Given the description of an element on the screen output the (x, y) to click on. 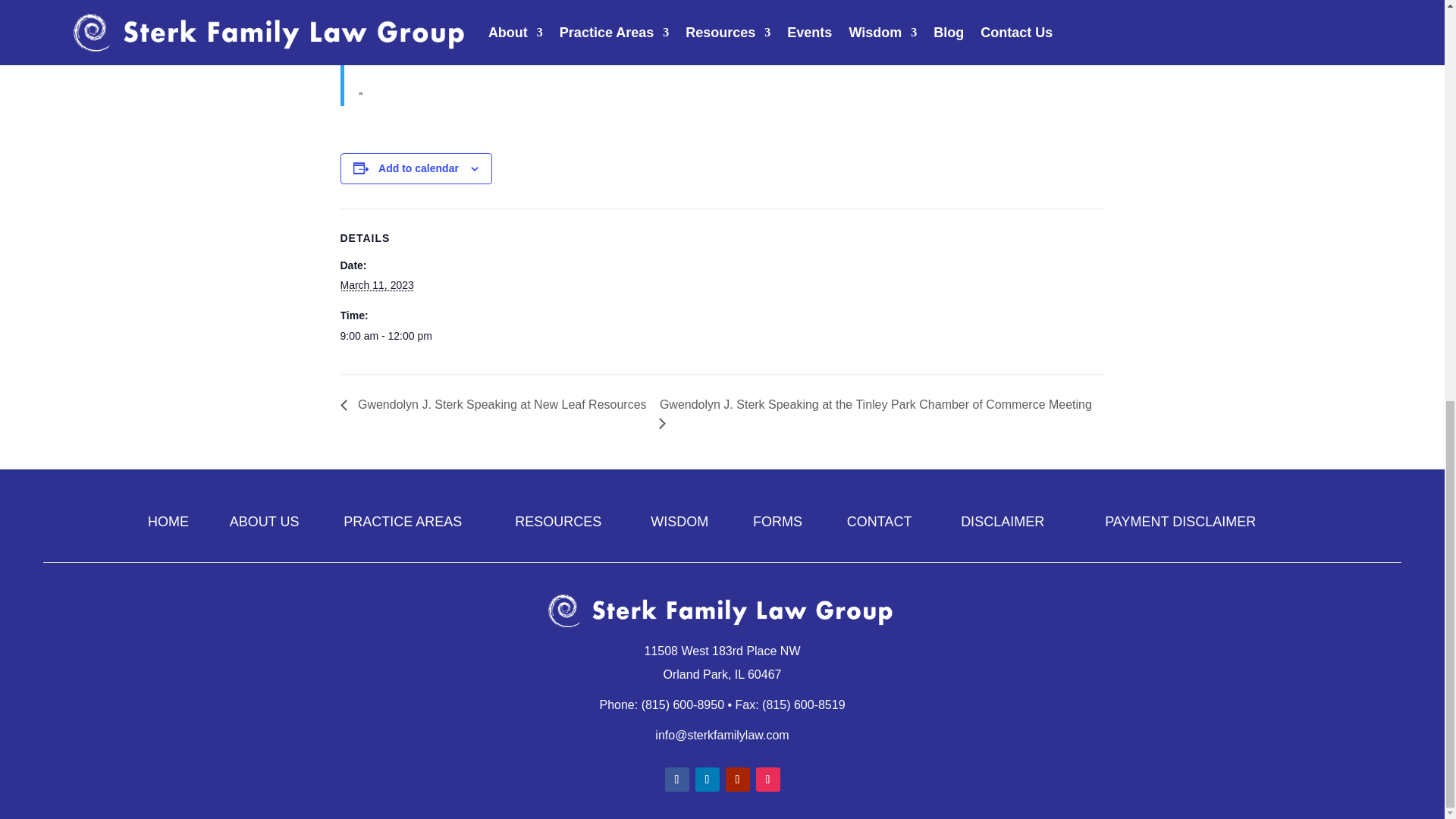
Follow on Youtube (737, 779)
2023-03-11 (403, 336)
Follow on Instagram (766, 779)
Follow on LinkedIn (706, 779)
Follow on Facebook (675, 779)
2023-03-11 (376, 285)
